Given the description of an element on the screen output the (x, y) to click on. 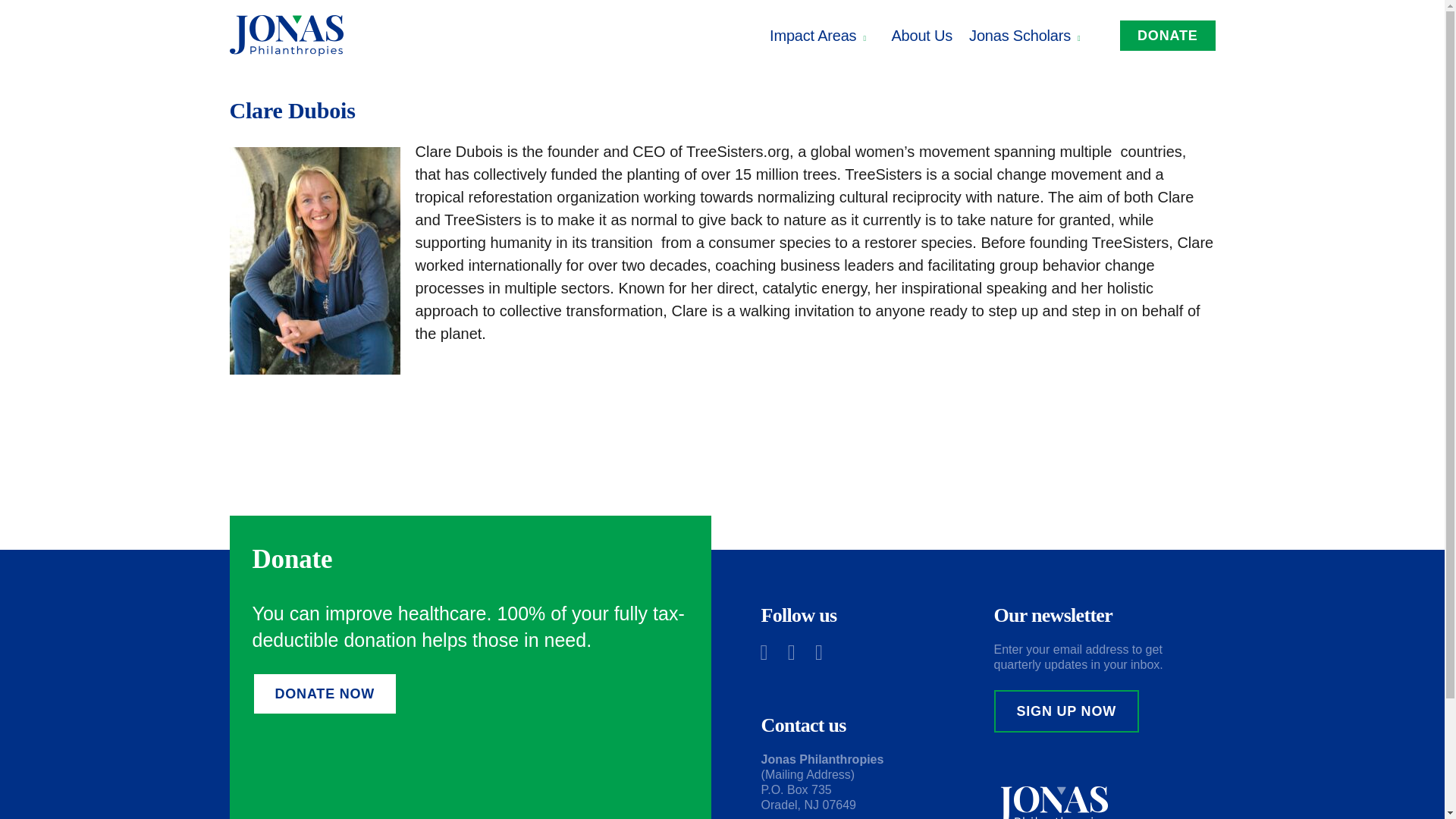
DONATE NOW (324, 693)
SIGN UP NOW (1066, 711)
Impact Areas (821, 35)
About Us (921, 35)
Jonas Scholars (1028, 35)
DONATE (1166, 35)
